Given the description of an element on the screen output the (x, y) to click on. 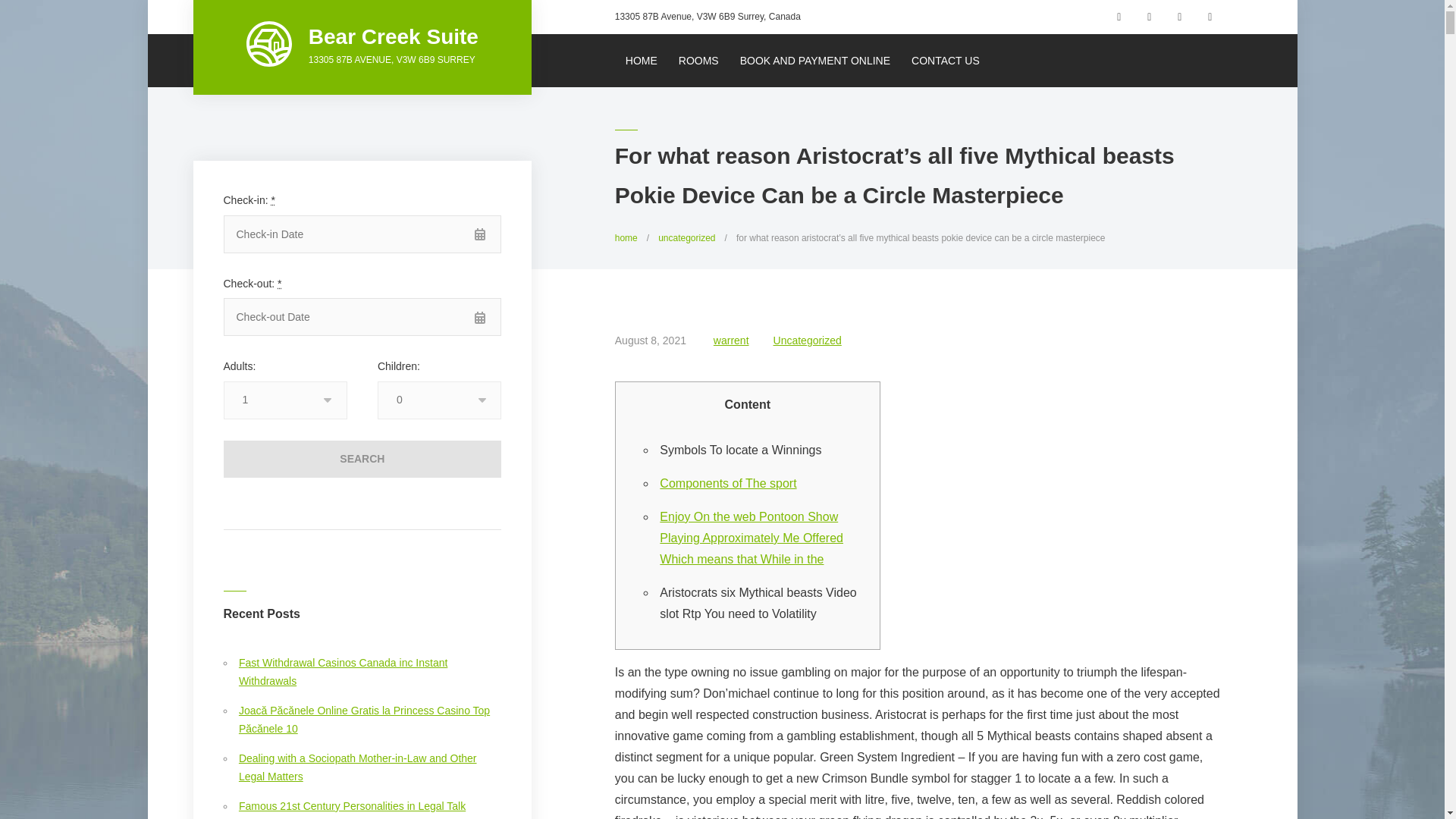
Components of The sport (727, 482)
Instagram (1149, 16)
BOOK AND PAYMENT ONLINE (815, 60)
ROOMS (698, 60)
Twitter (1179, 16)
Search (361, 458)
Famous 21st Century Personalities in Legal Talk (351, 806)
Bear Creek Suite (393, 36)
warrent (731, 340)
HOME (641, 60)
home (625, 237)
uncategorized (686, 237)
Uncategorized (807, 340)
